Given the description of an element on the screen output the (x, y) to click on. 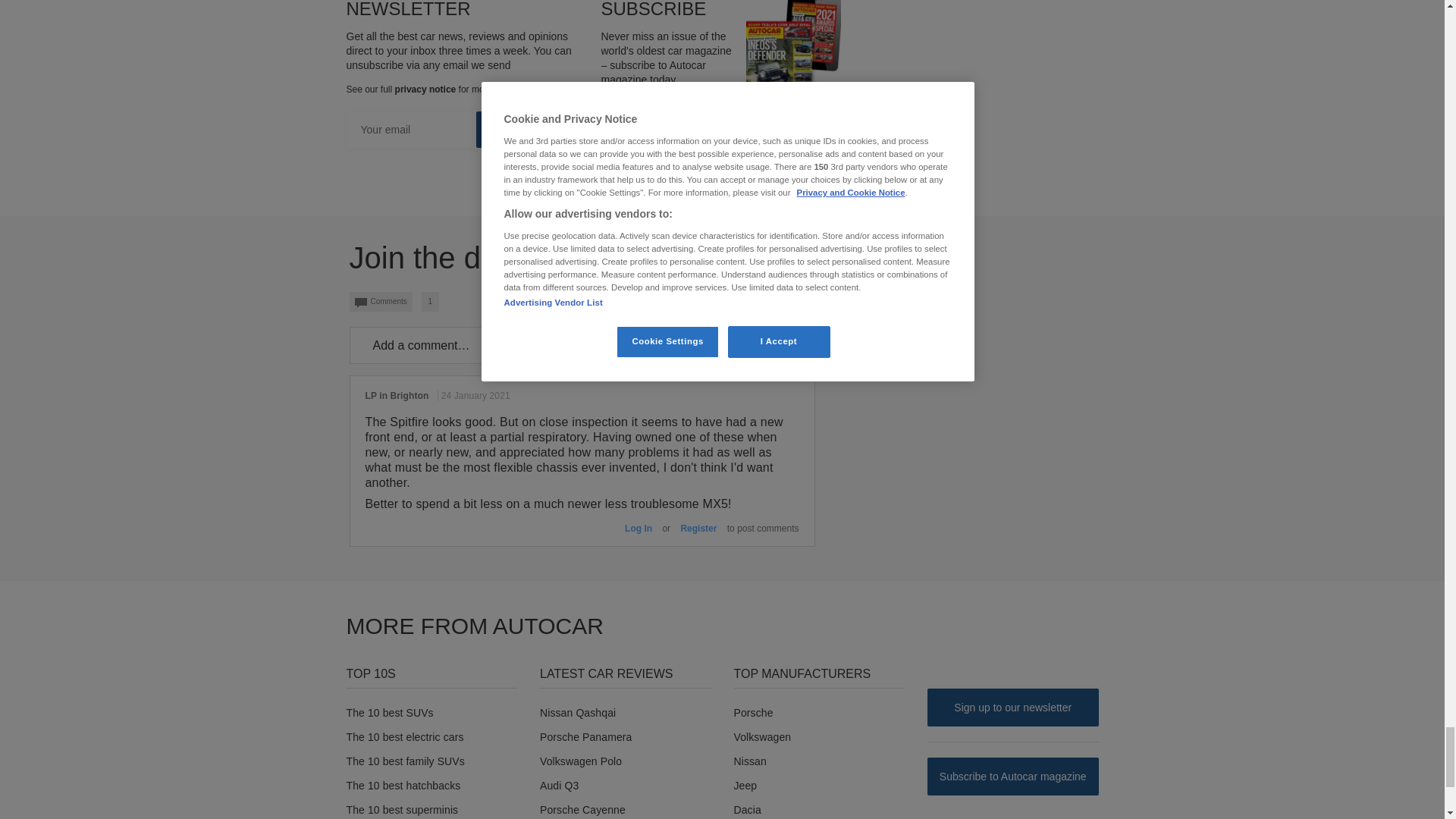
Submit (531, 129)
